Given the description of an element on the screen output the (x, y) to click on. 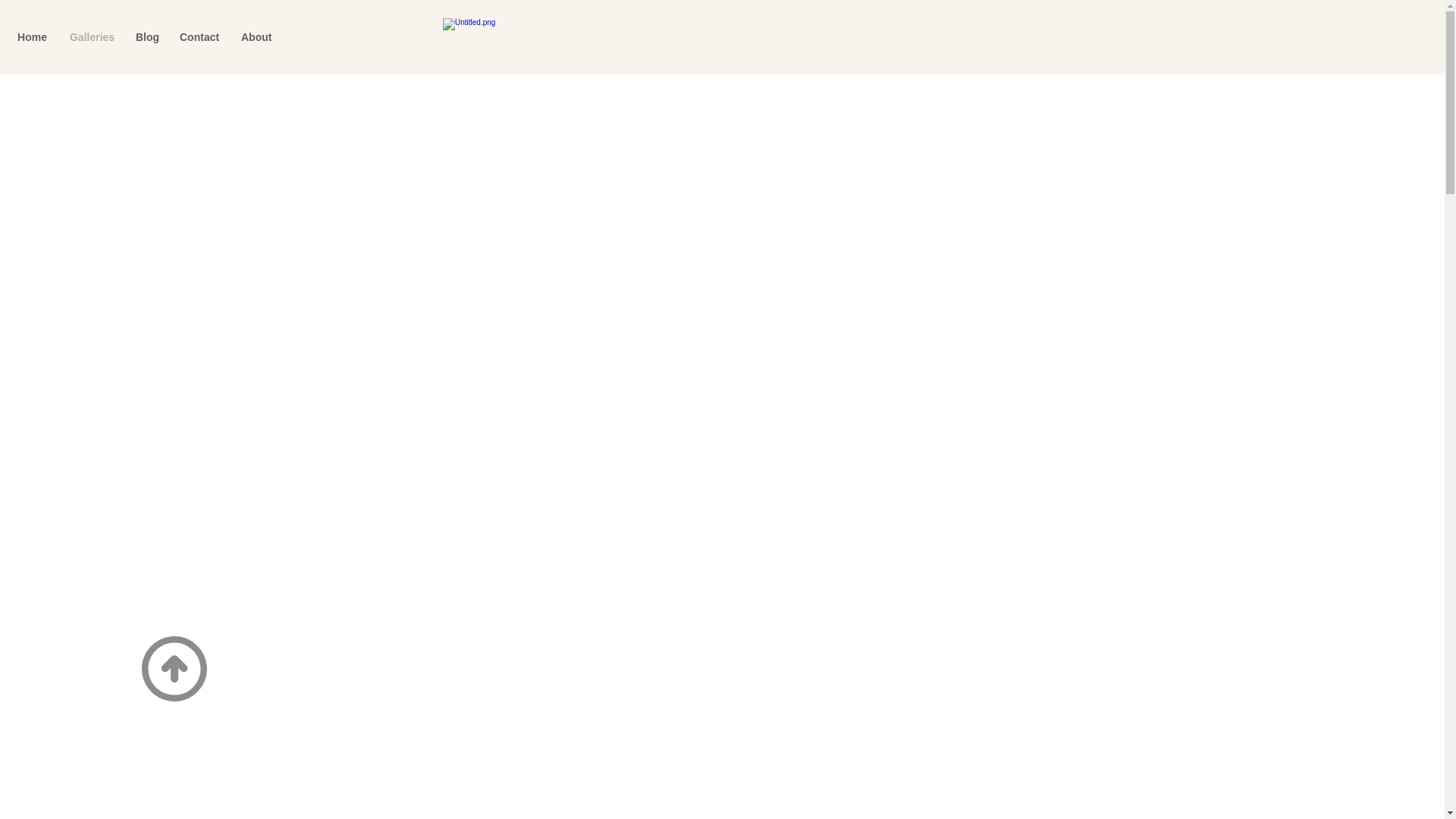
Home (31, 36)
Contact (199, 36)
About (256, 36)
Blog (145, 36)
Galleries (90, 36)
